Given the description of an element on the screen output the (x, y) to click on. 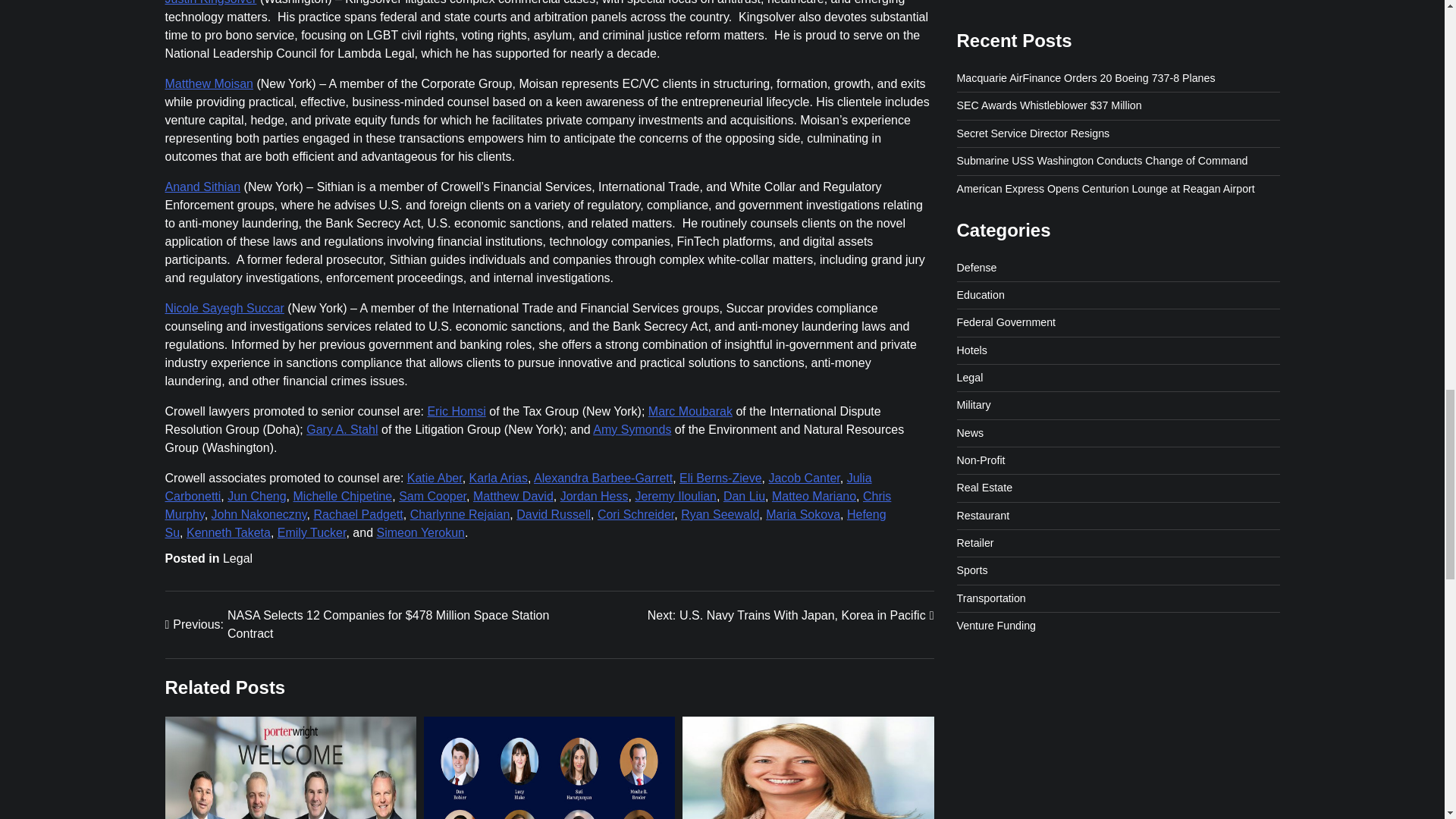
Jordan Hess (594, 495)
Matthew Moisan (209, 83)
Anand Sithian (203, 186)
Rachael Padgett (358, 513)
Jun Cheng (256, 495)
Gary A. Stahl (341, 429)
John Nakoneczny (259, 513)
Jacob Canter (804, 477)
Cori Schreider (635, 513)
Dan Liu (744, 495)
